Given the description of an element on the screen output the (x, y) to click on. 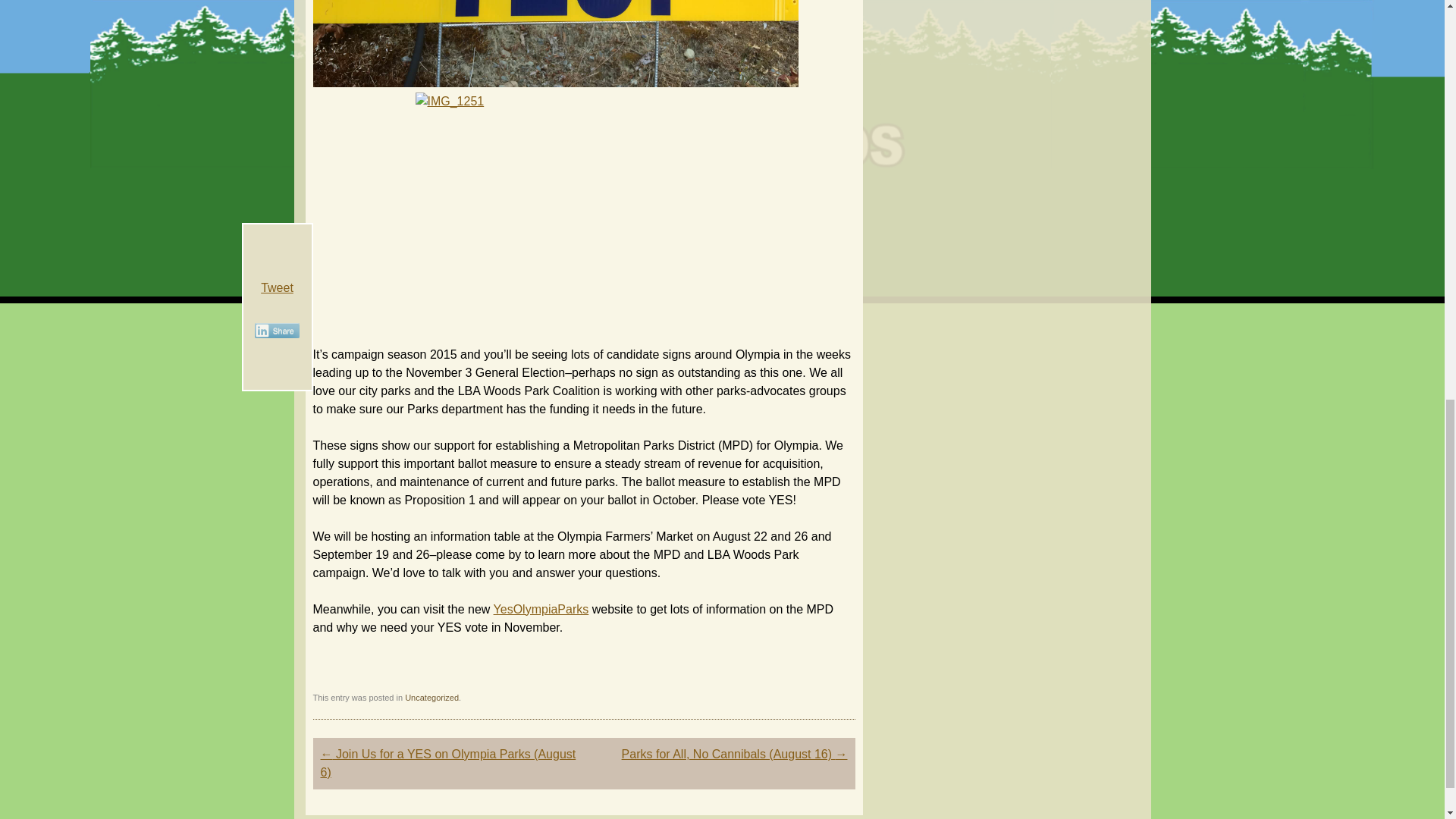
Uncategorized (431, 696)
YesOlympiaParks (541, 608)
